Given the description of an element on the screen output the (x, y) to click on. 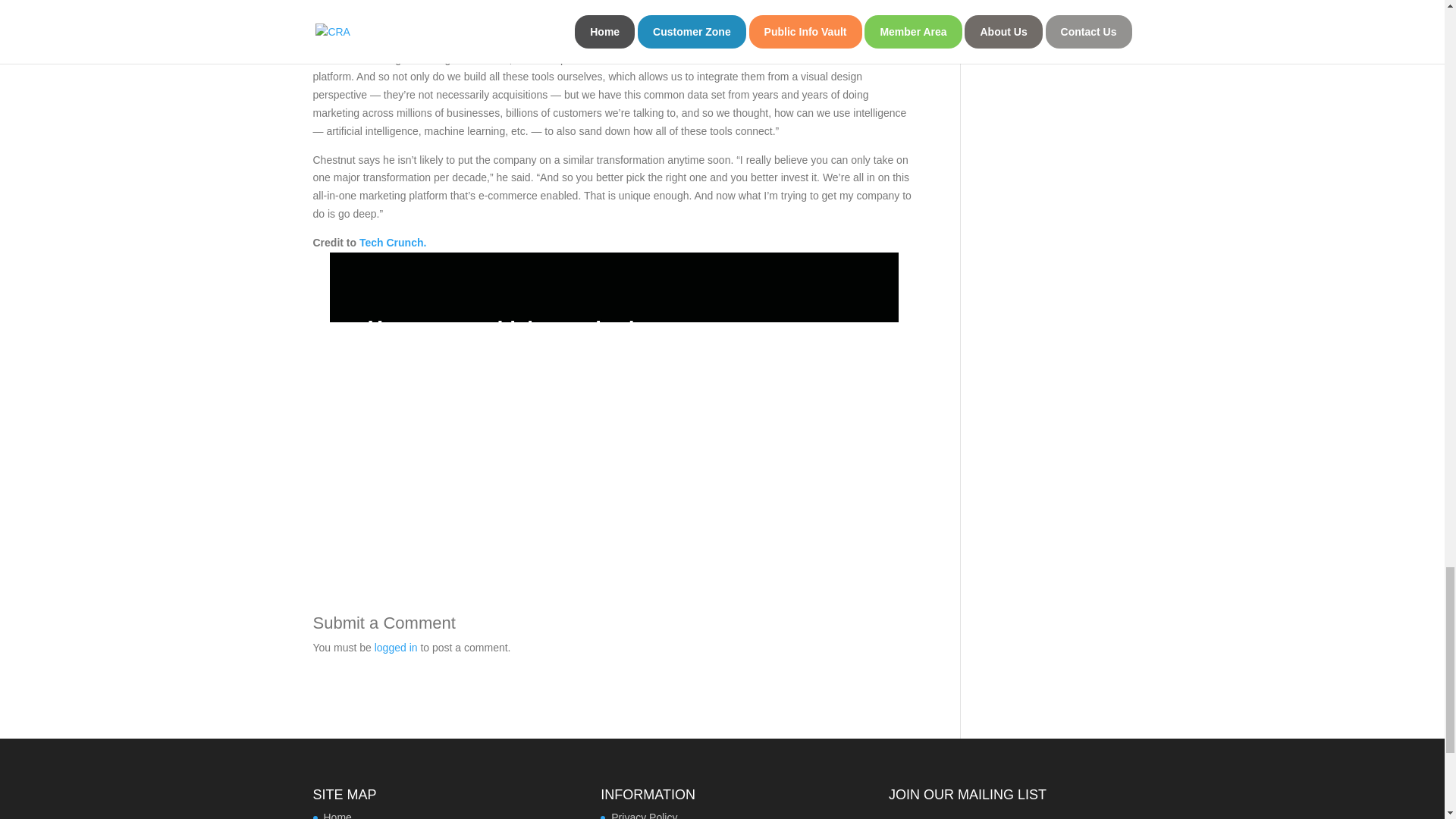
logged in (395, 647)
Tech Crunch (391, 242)
